Given the description of an element on the screen output the (x, y) to click on. 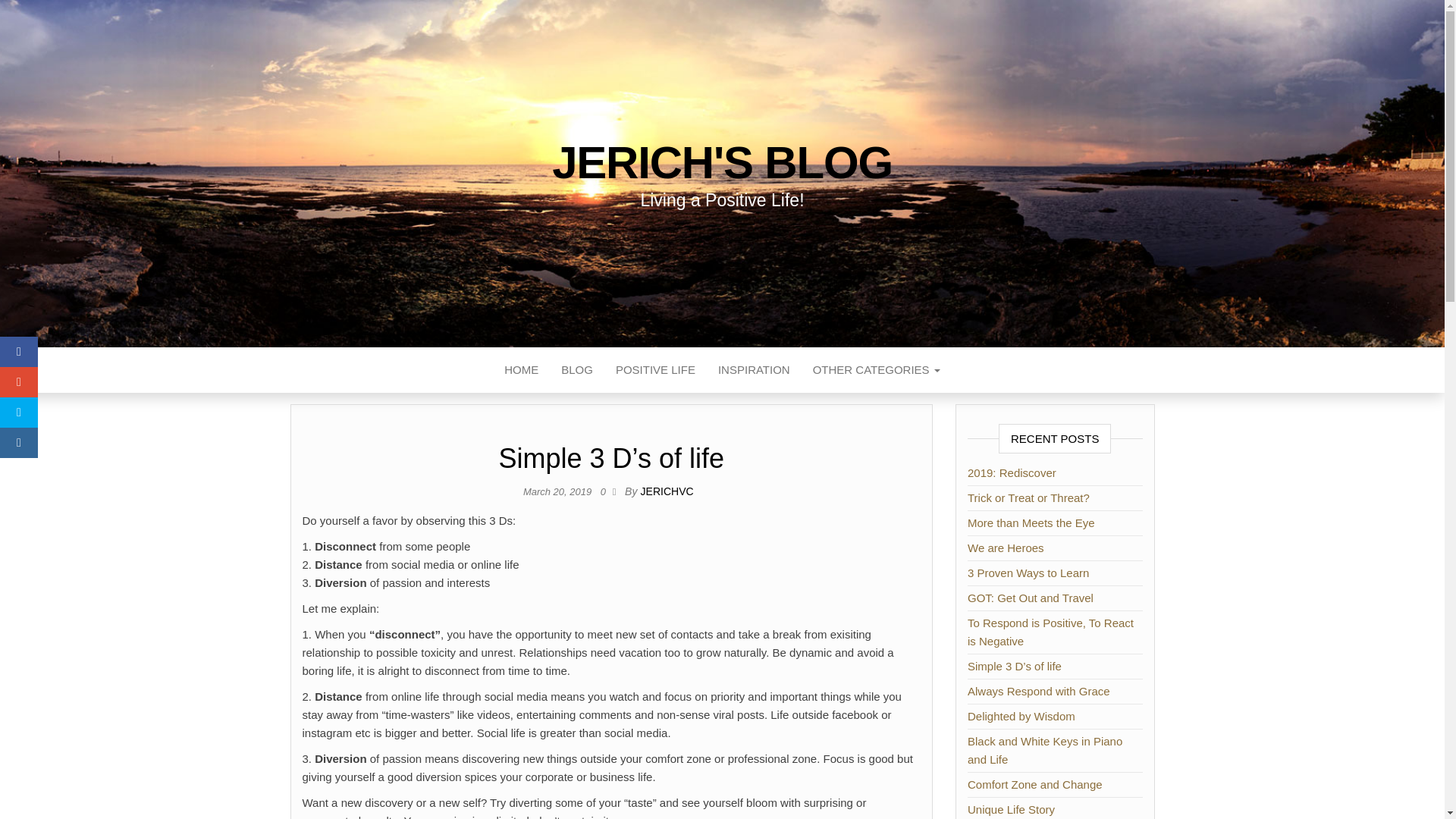
INSPIRATION (754, 370)
Positive Life (655, 370)
0 (605, 491)
Inspiration (754, 370)
More than Meets the Eye (1031, 522)
POSITIVE LIFE (655, 370)
Always Respond with Grace (1038, 690)
Black and White Keys in Piano and Life (1045, 749)
We are Heroes (1005, 547)
OTHER CATEGORIES (877, 370)
